Given the description of an element on the screen output the (x, y) to click on. 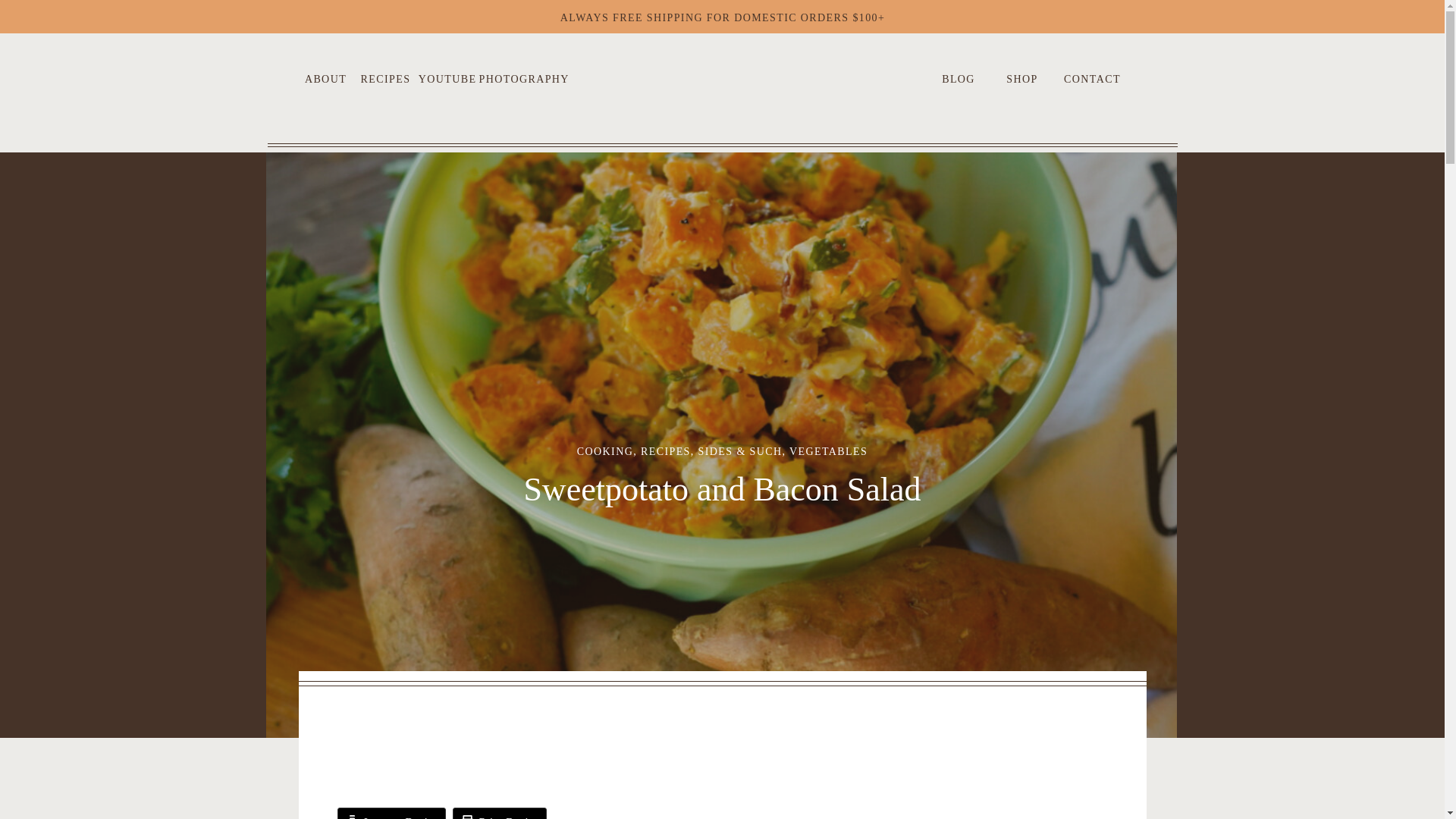
Jump to Recipe (390, 813)
PHOTOGRAPHY (518, 76)
VEGETABLES (828, 451)
COOKING (604, 451)
ABOUT (325, 76)
CONTACT (1092, 76)
YOUTUBE (446, 76)
RECIPES (665, 451)
Print Recipe (499, 813)
BLOG (958, 76)
